Given the description of an element on the screen output the (x, y) to click on. 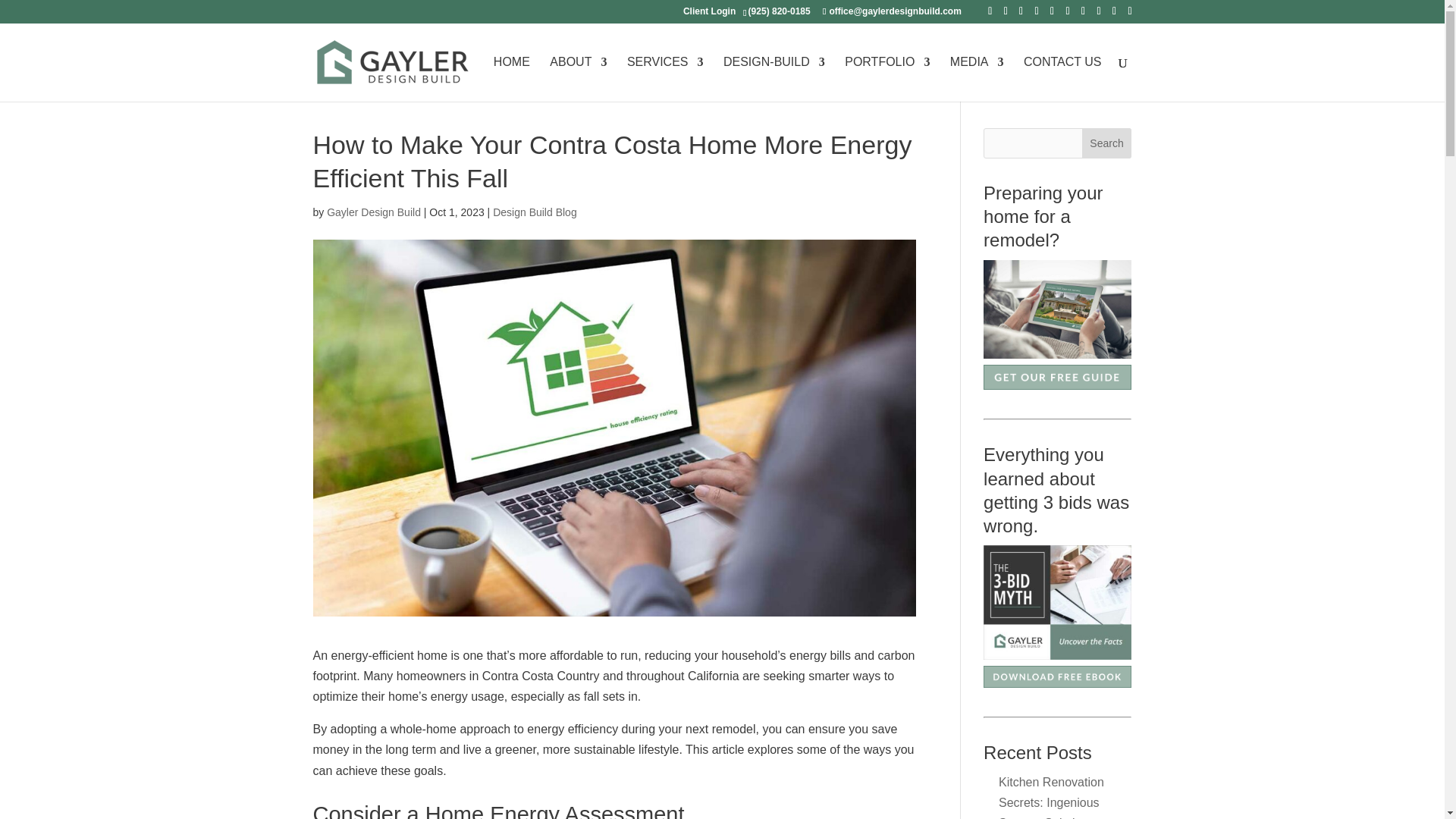
Posts by Gayler Design Build (373, 212)
Client Login (708, 14)
ABOUT (578, 78)
